Given the description of an element on the screen output the (x, y) to click on. 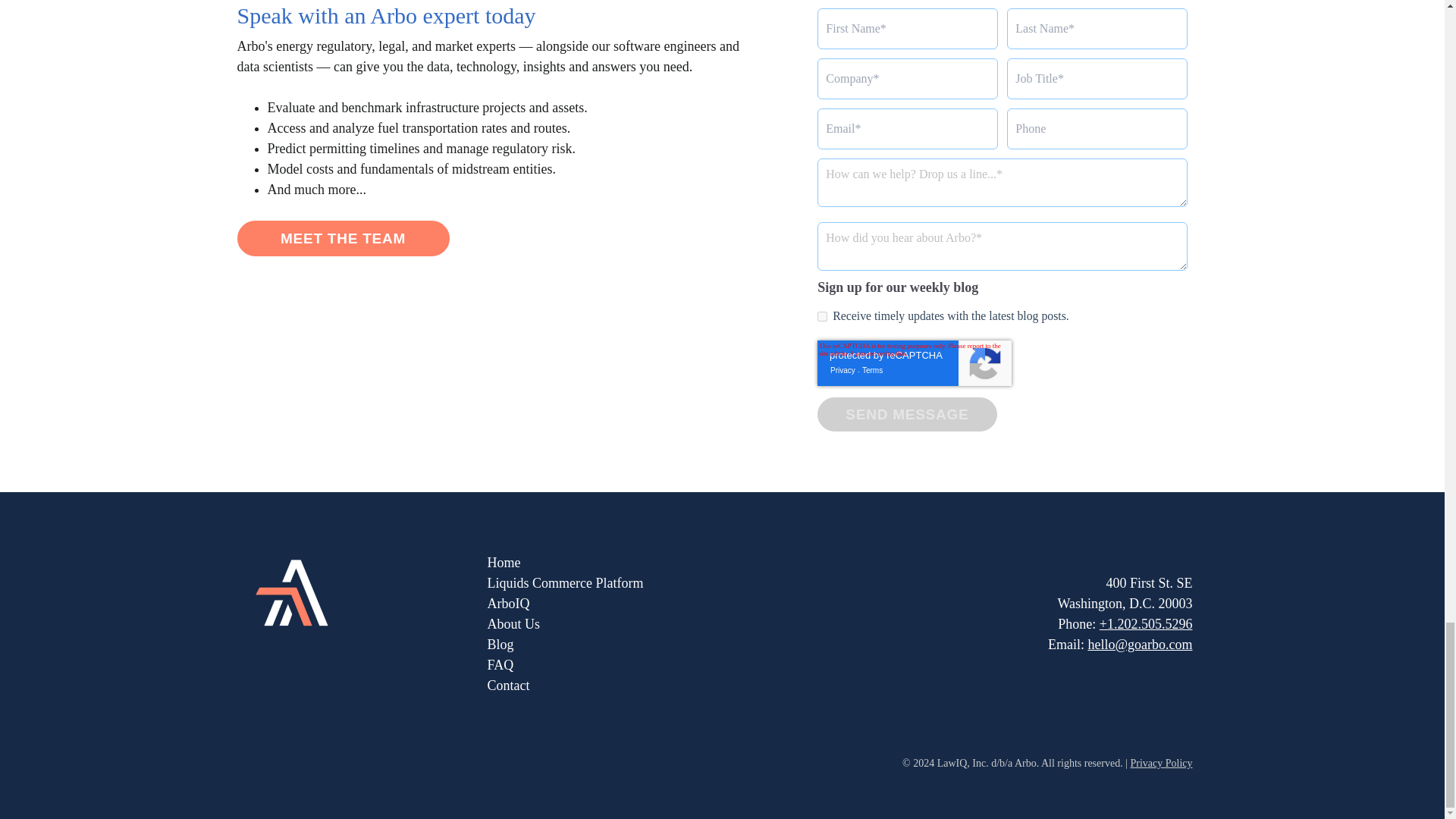
true (821, 316)
SEND MESSAGE (905, 414)
reCAPTCHA (913, 362)
